Given the description of an element on the screen output the (x, y) to click on. 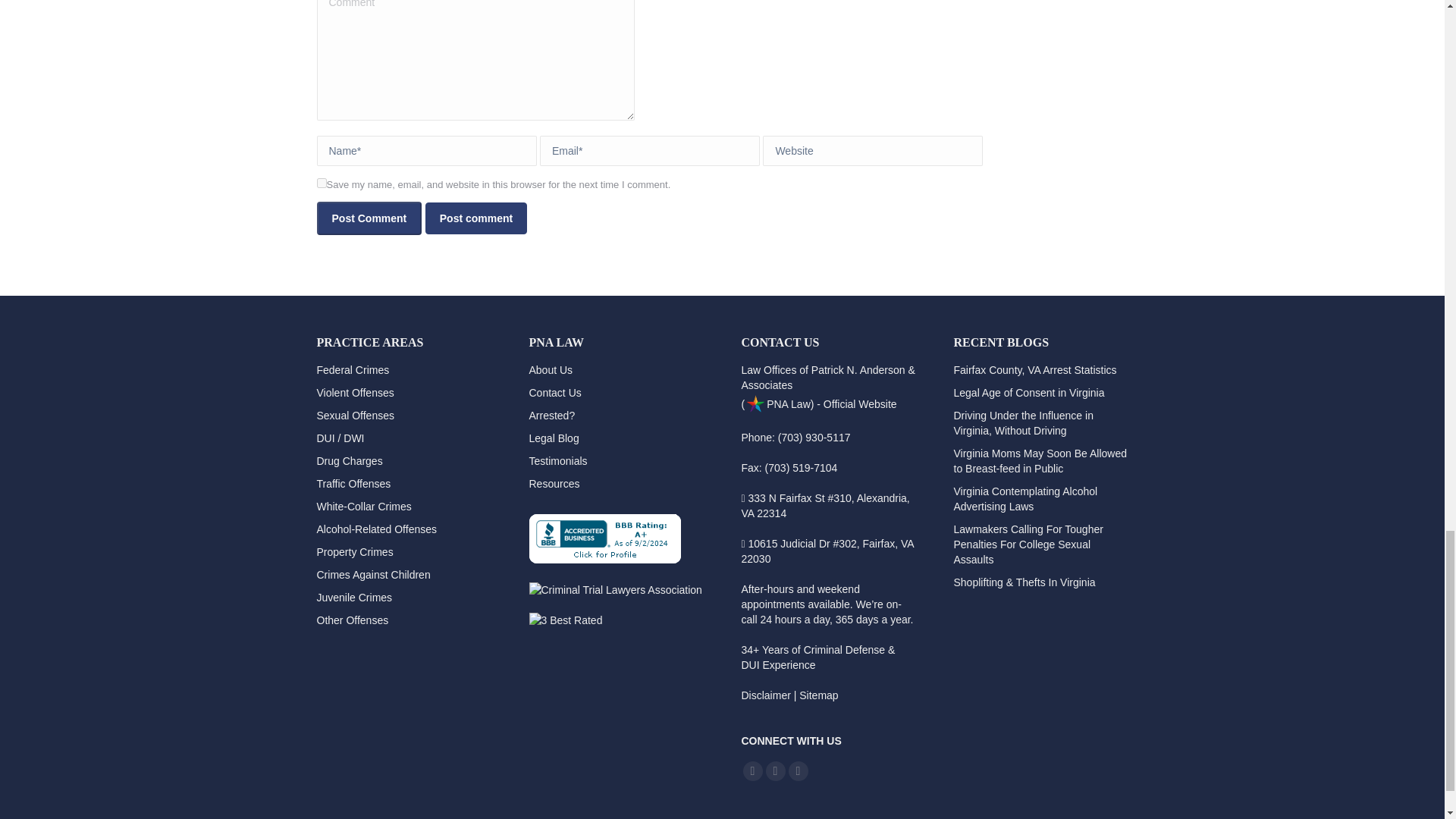
Twitter page opens in new window (775, 771)
Linkedin page opens in new window (798, 771)
Facebook page opens in new window (752, 771)
yes (321, 183)
Post Comment (369, 218)
